Given the description of an element on the screen output the (x, y) to click on. 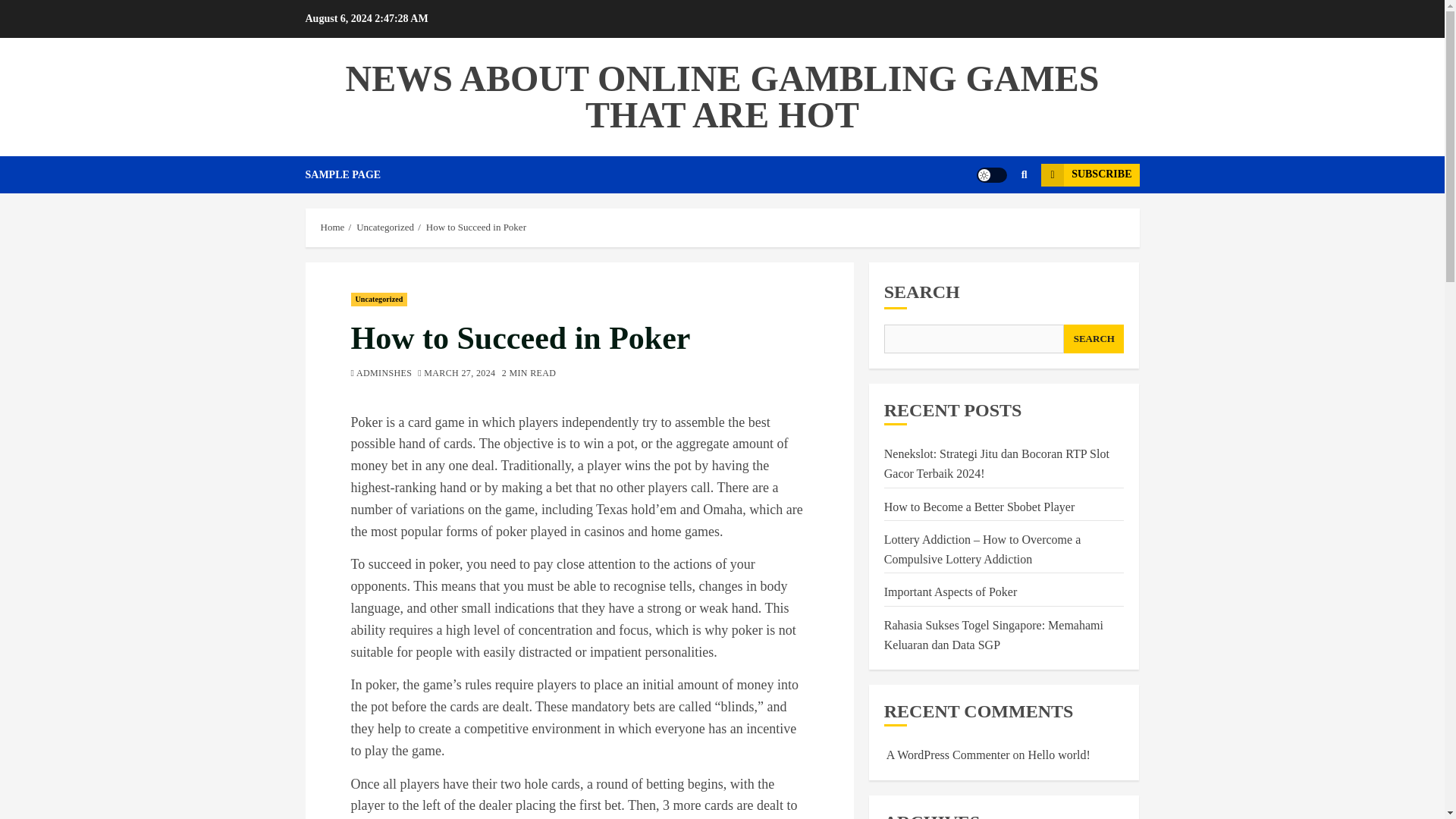
How to Succeed in Poker (475, 227)
ADMINSHES (381, 373)
A WordPress Commenter (948, 755)
SUBSCRIBE (1089, 174)
Uncategorized (384, 227)
SEARCH (1094, 338)
Important Aspects of Poker (950, 591)
NEWS ABOUT ONLINE GAMBLING GAMES THAT ARE HOT (722, 96)
Search (994, 220)
SAMPLE PAGE (353, 174)
Hello world! (1058, 755)
Home (331, 227)
Uncategorized (378, 299)
